Given the description of an element on the screen output the (x, y) to click on. 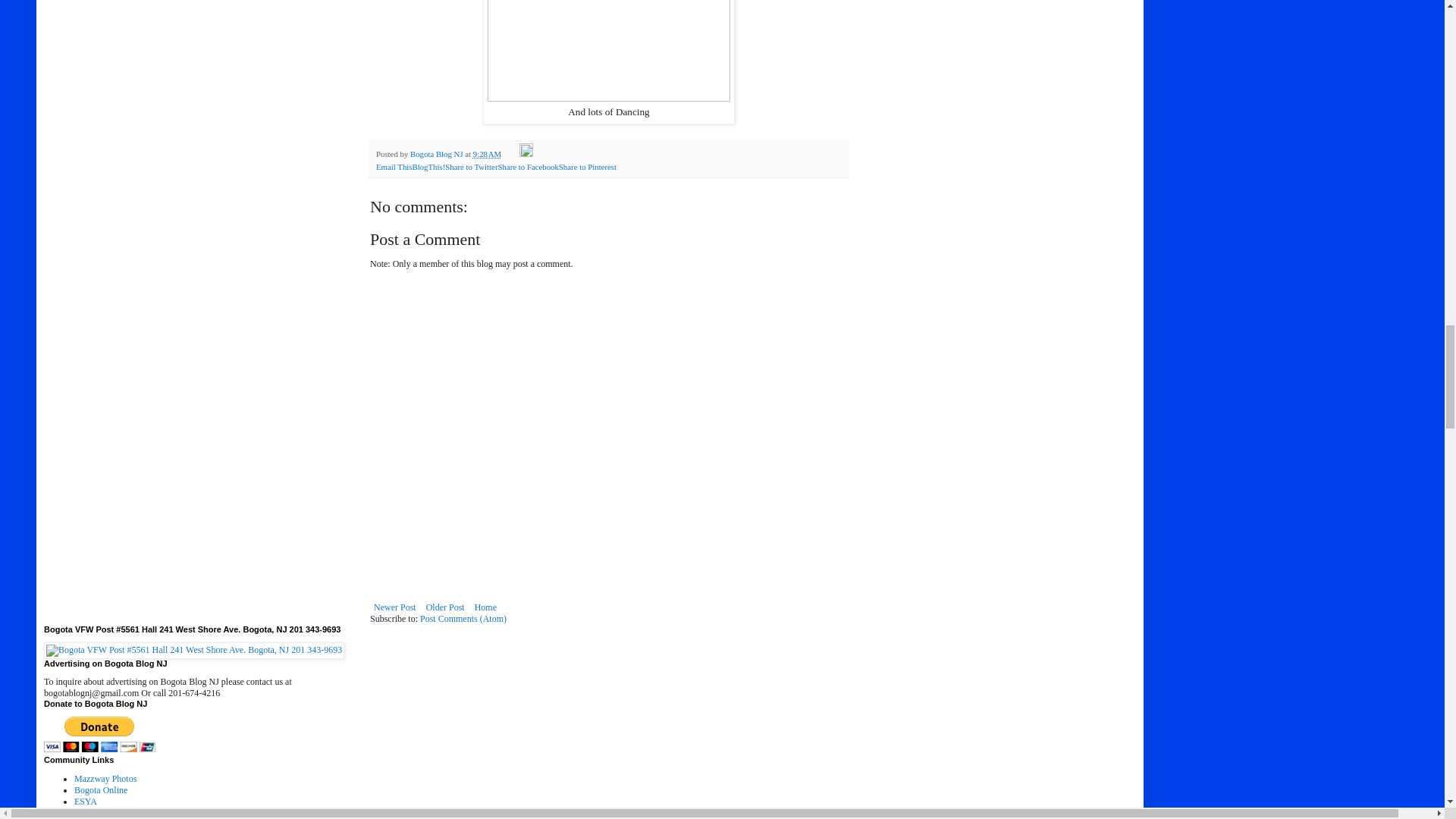
Older Post (445, 607)
Share to Facebook (527, 166)
Newer Post (394, 607)
ESYA (85, 801)
author profile (437, 153)
Share to Facebook (527, 166)
Bogota Blog NJ (437, 153)
BlogThis! (428, 166)
permanent link (486, 153)
Share to Twitter (471, 166)
BlogThis! (428, 166)
Share to Pinterest (587, 166)
Bogota Online (101, 789)
Share to Twitter (471, 166)
